Given the description of an element on the screen output the (x, y) to click on. 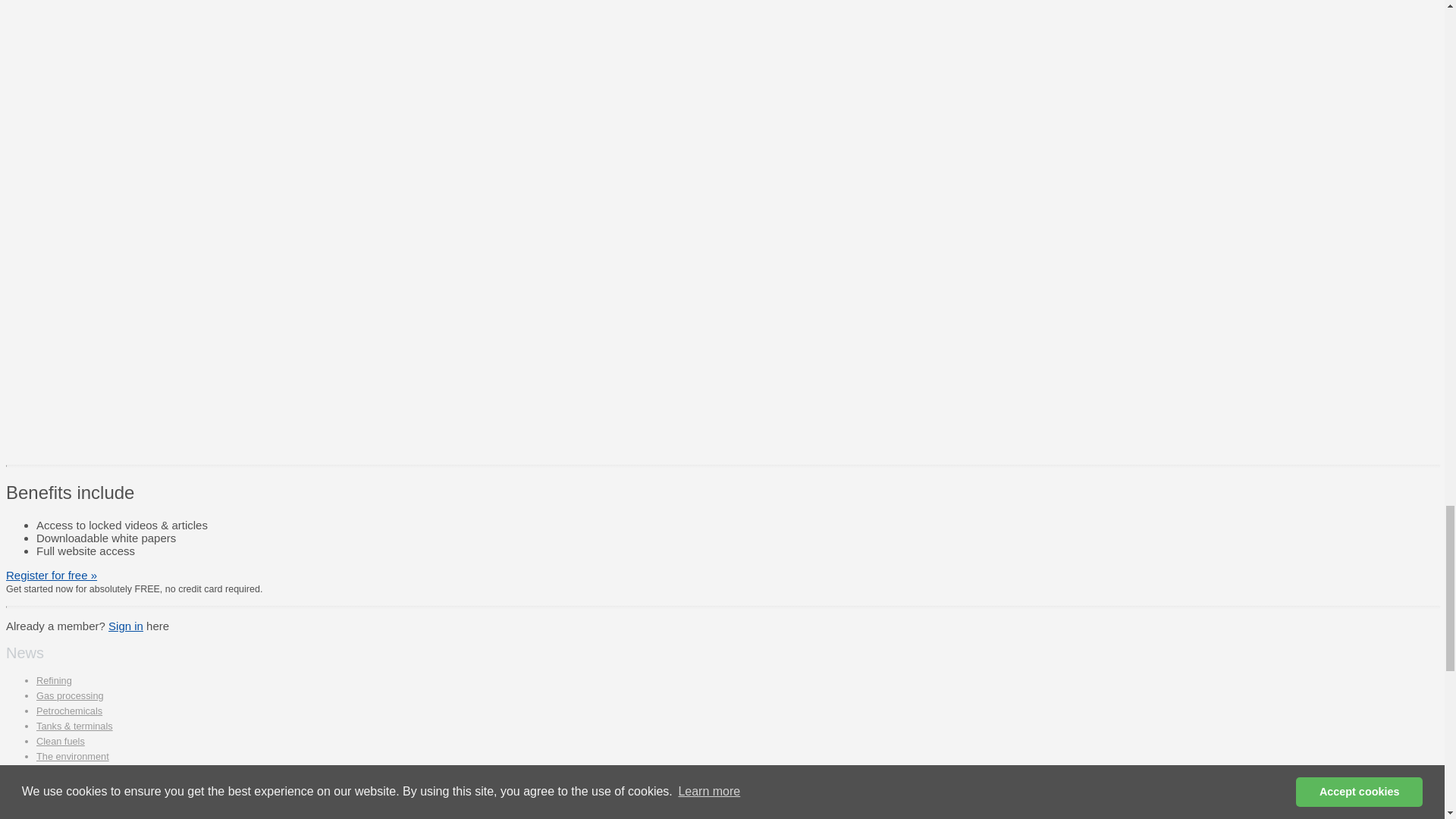
3rd party ad content (774, 145)
3rd party ad content (774, 354)
3rd party ad content (774, 16)
